Given the description of an element on the screen output the (x, y) to click on. 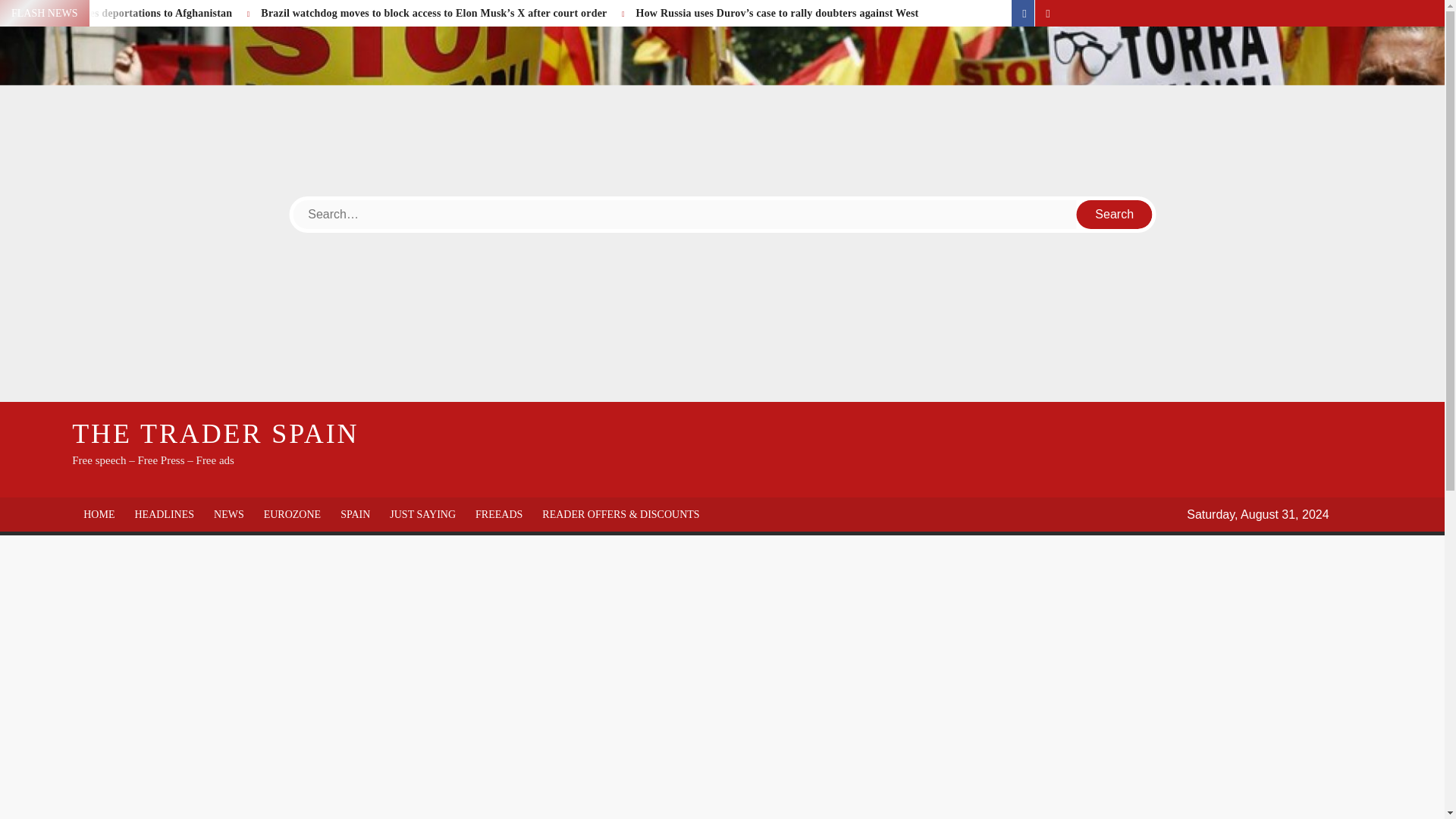
Germany resumes deportations to Afghanistan (123, 12)
HOME (98, 514)
THE TRADER SPAIN (214, 433)
Search (1115, 214)
NEWS (229, 514)
Search (1115, 214)
HEADLINES (163, 514)
Germany resumes deportations to Afghanistan (123, 12)
JUST SAYING (422, 514)
Search (1115, 214)
